Given the description of an element on the screen output the (x, y) to click on. 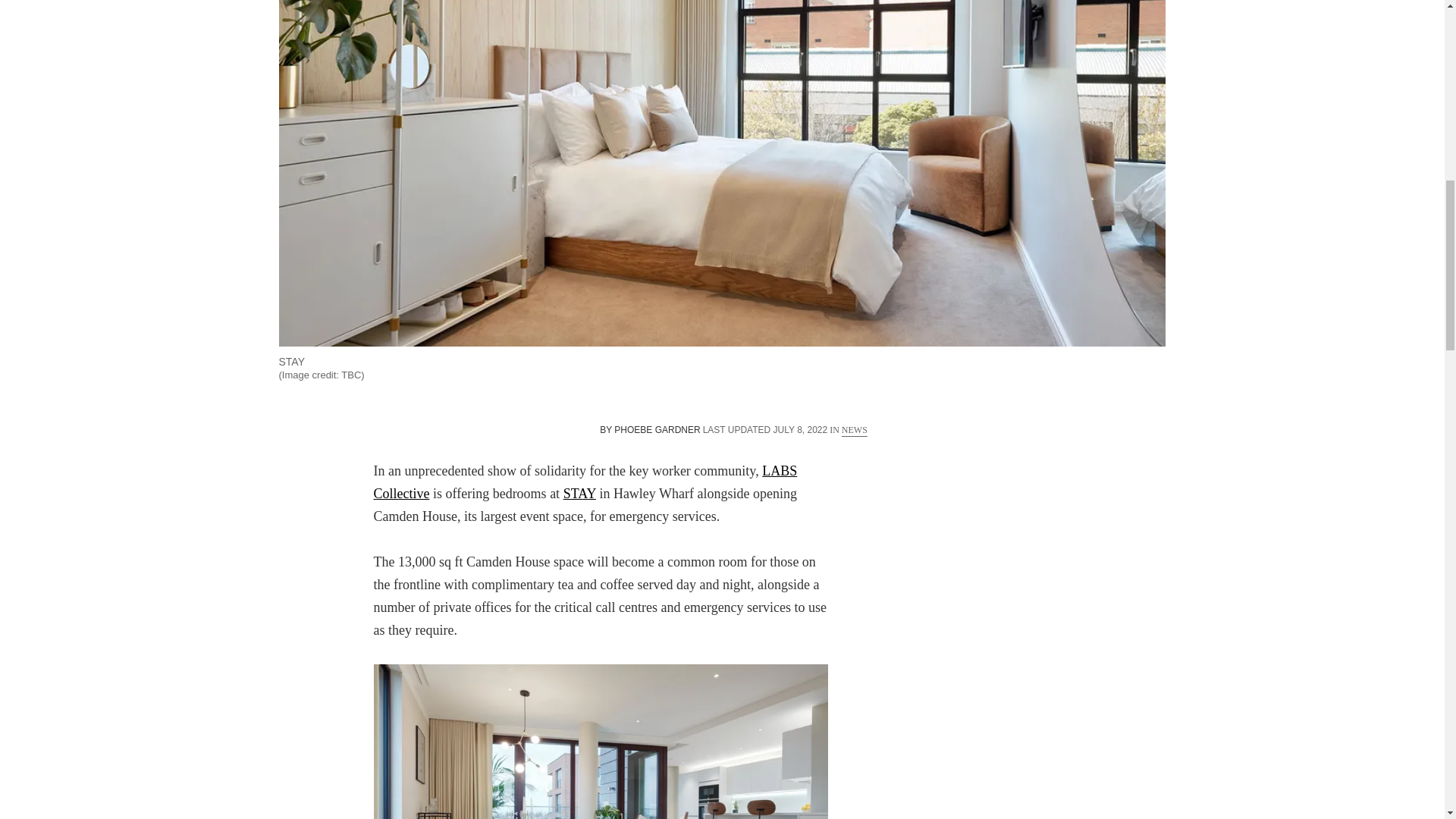
Advertisement (1044, 554)
STAY (579, 493)
NEWS (854, 429)
LABS Collective (584, 482)
PHOEBE GARDNER (657, 429)
